Given the description of an element on the screen output the (x, y) to click on. 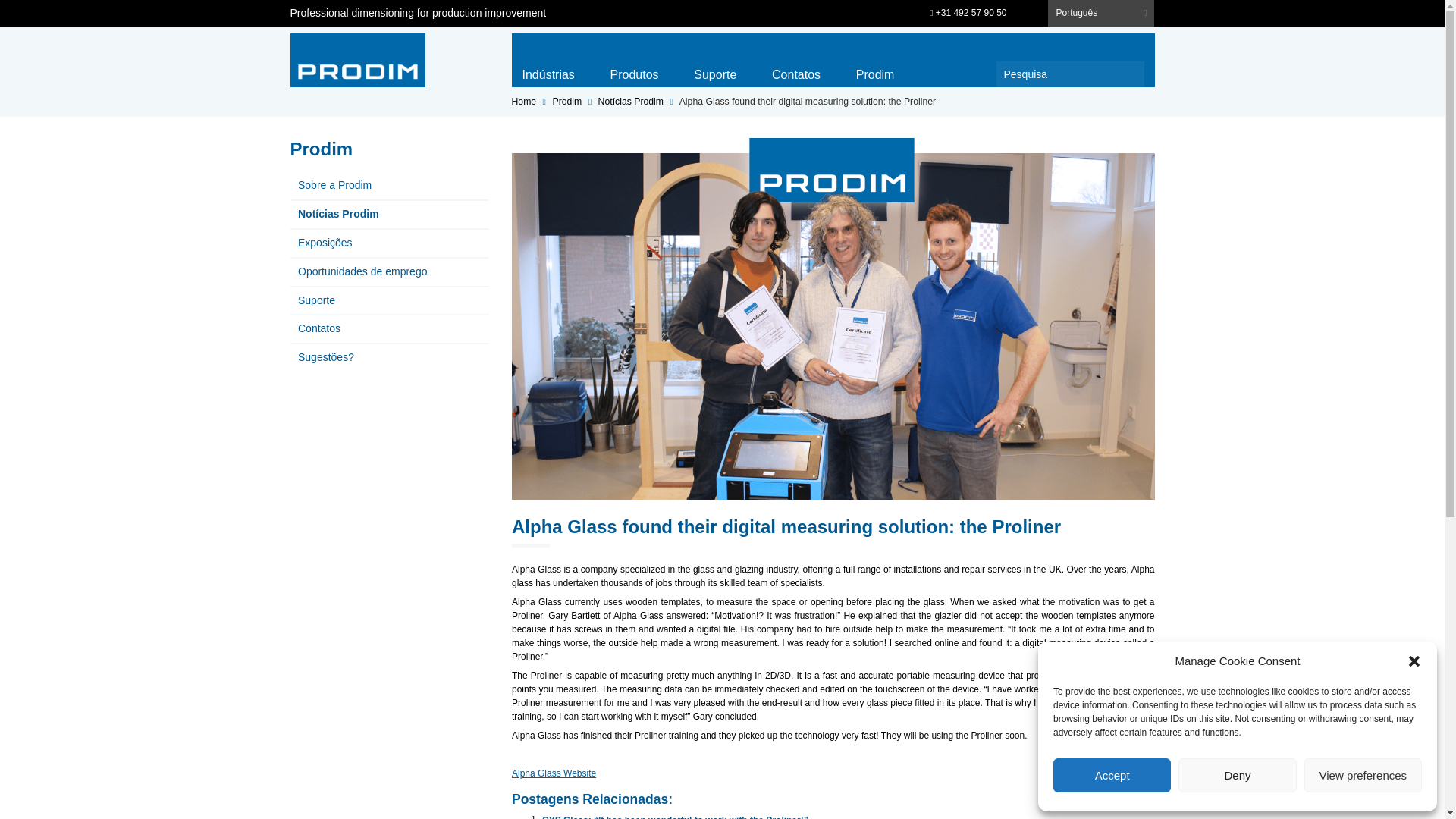
Prodim (357, 59)
Accept (1111, 775)
Deny (1236, 775)
View preferences (1363, 775)
Produtos (634, 71)
